Given the description of an element on the screen output the (x, y) to click on. 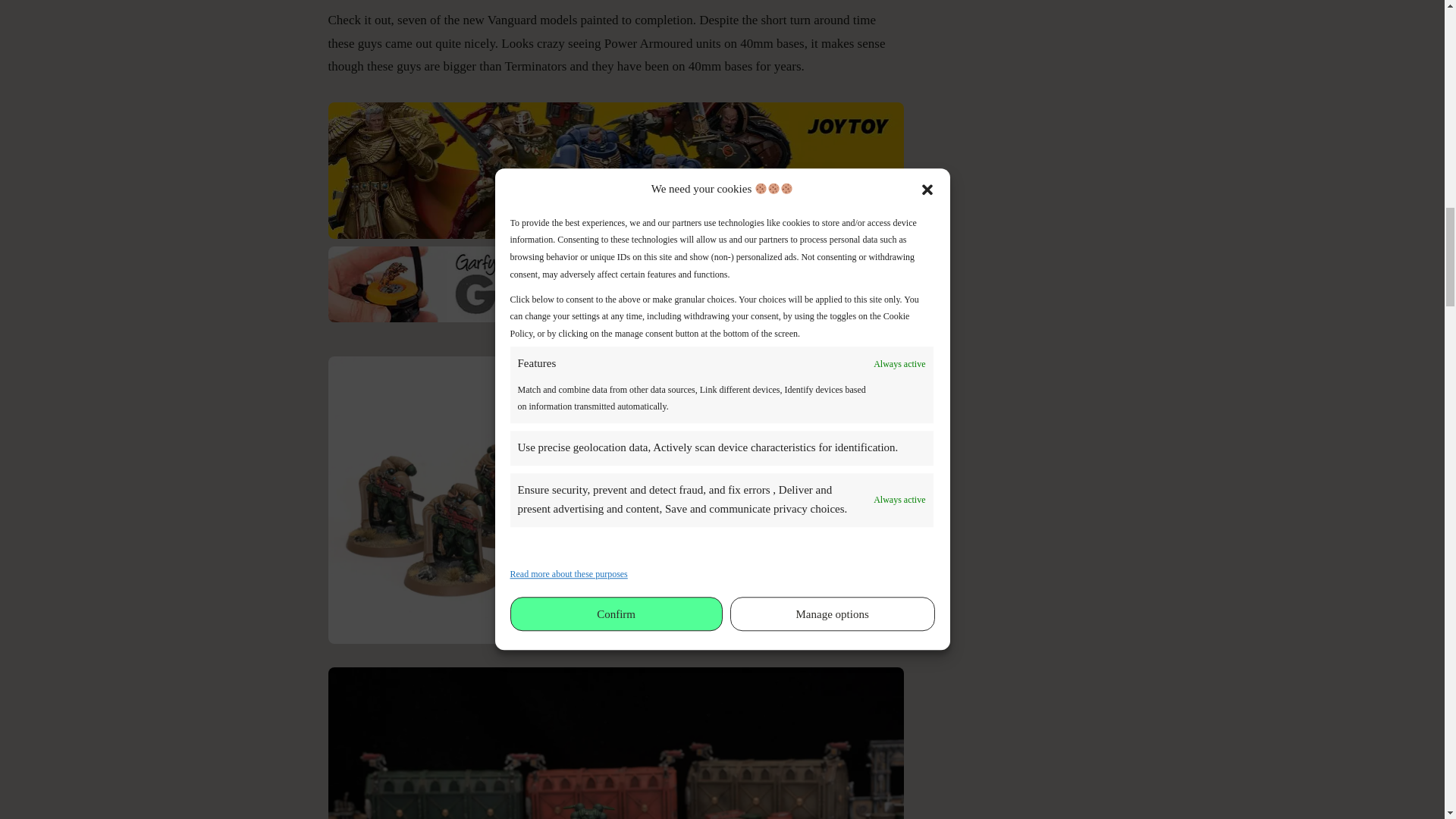
Joy Toy Warhammer Amazon (620, 174)
